Given the description of an element on the screen output the (x, y) to click on. 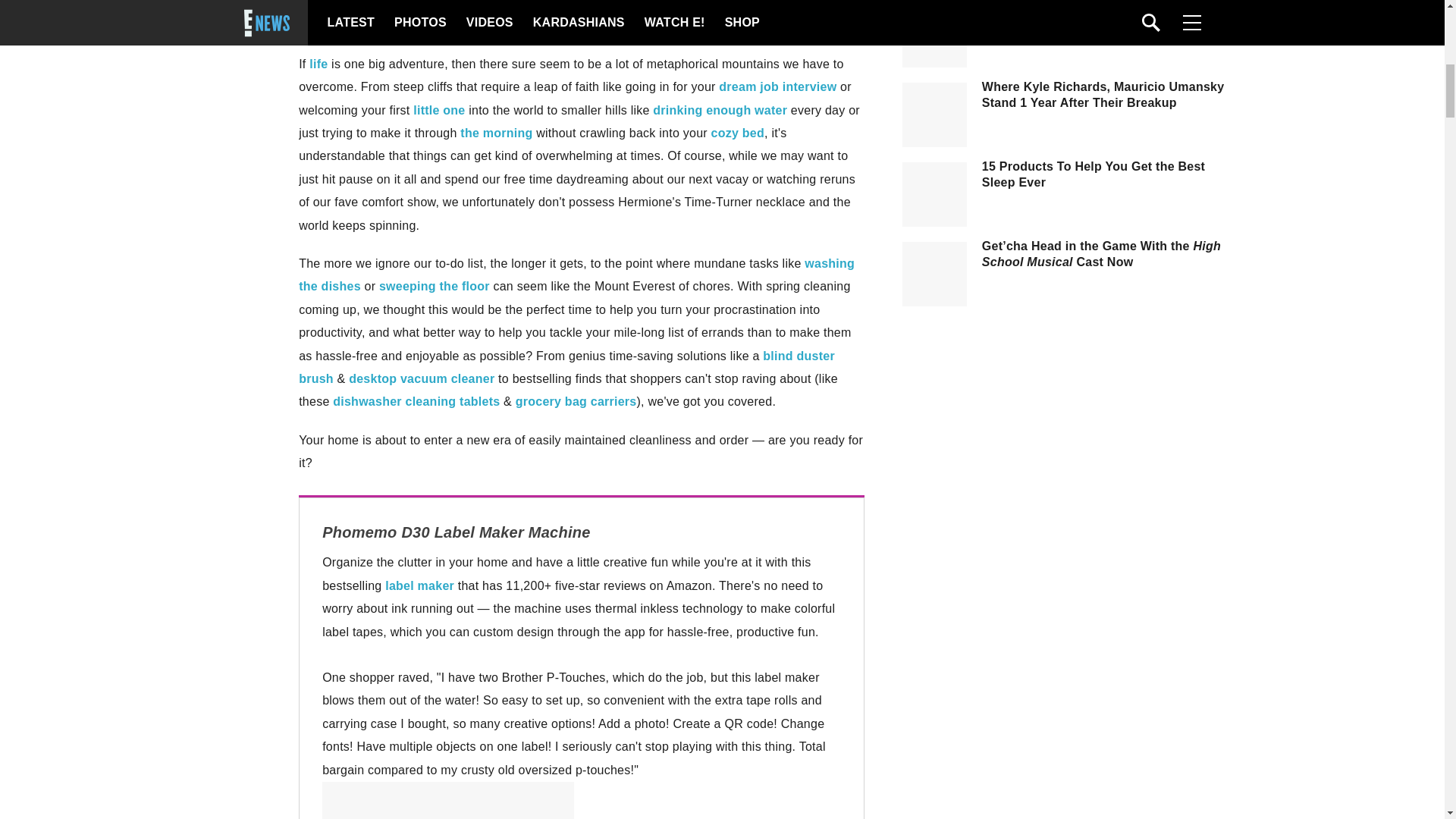
life (317, 63)
desktop vacuum cleaner (422, 378)
little one (438, 110)
dream job interview (777, 86)
cozy bed (737, 132)
dishwasher cleaning tablets (416, 400)
label maker (419, 585)
the morning (496, 132)
blind duster brush (566, 366)
washing the dishes (576, 274)
